Given the description of an element on the screen output the (x, y) to click on. 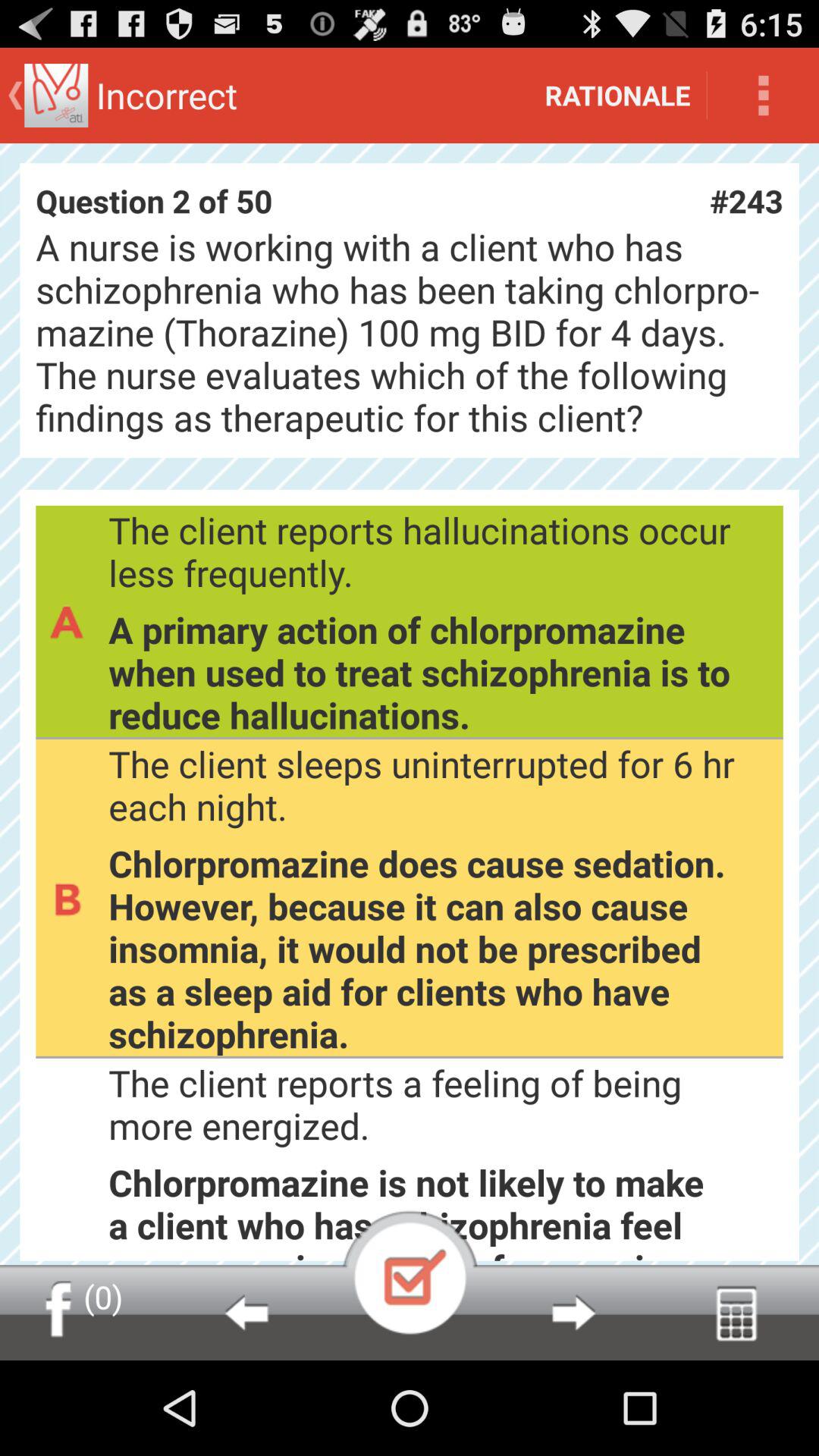
launch icon above question 2 of icon (617, 95)
